Given the description of an element on the screen output the (x, y) to click on. 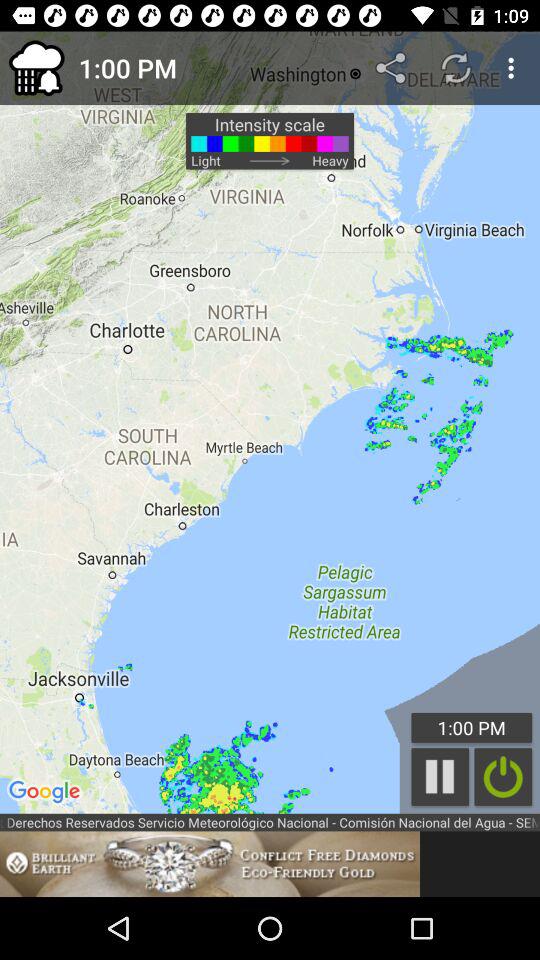
turn off icon below 1:00 pm icon (440, 776)
